Given the description of an element on the screen output the (x, y) to click on. 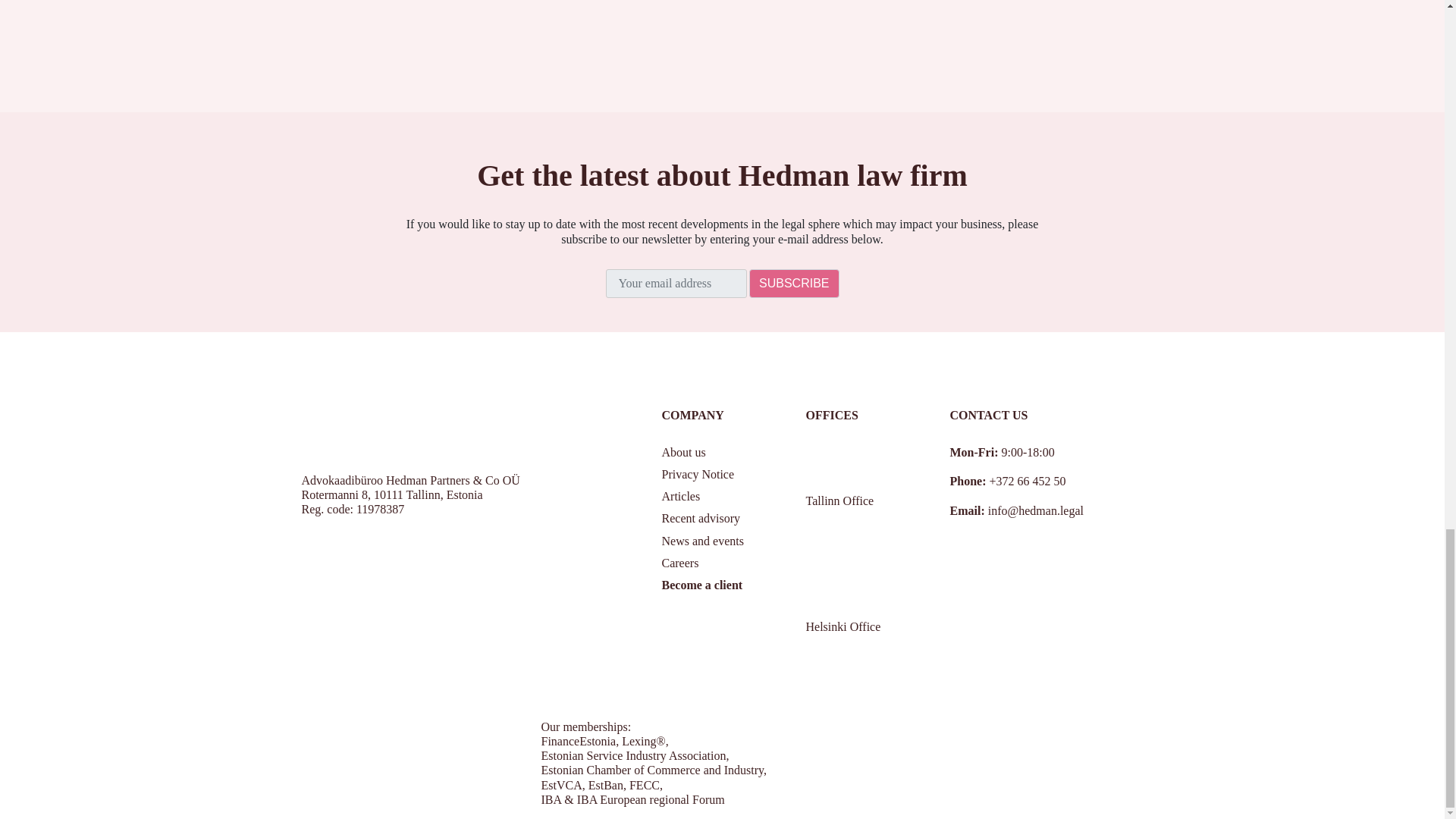
Articles (680, 495)
SUBSCRIBE (793, 283)
Become a client (701, 584)
About us (682, 451)
Estonian Chamber of Commerce and Industry (652, 769)
News and events (701, 540)
Careers (679, 562)
Helsinki Office (852, 626)
Recent advisory (700, 517)
FinanceEstonia (578, 740)
